Given the description of an element on the screen output the (x, y) to click on. 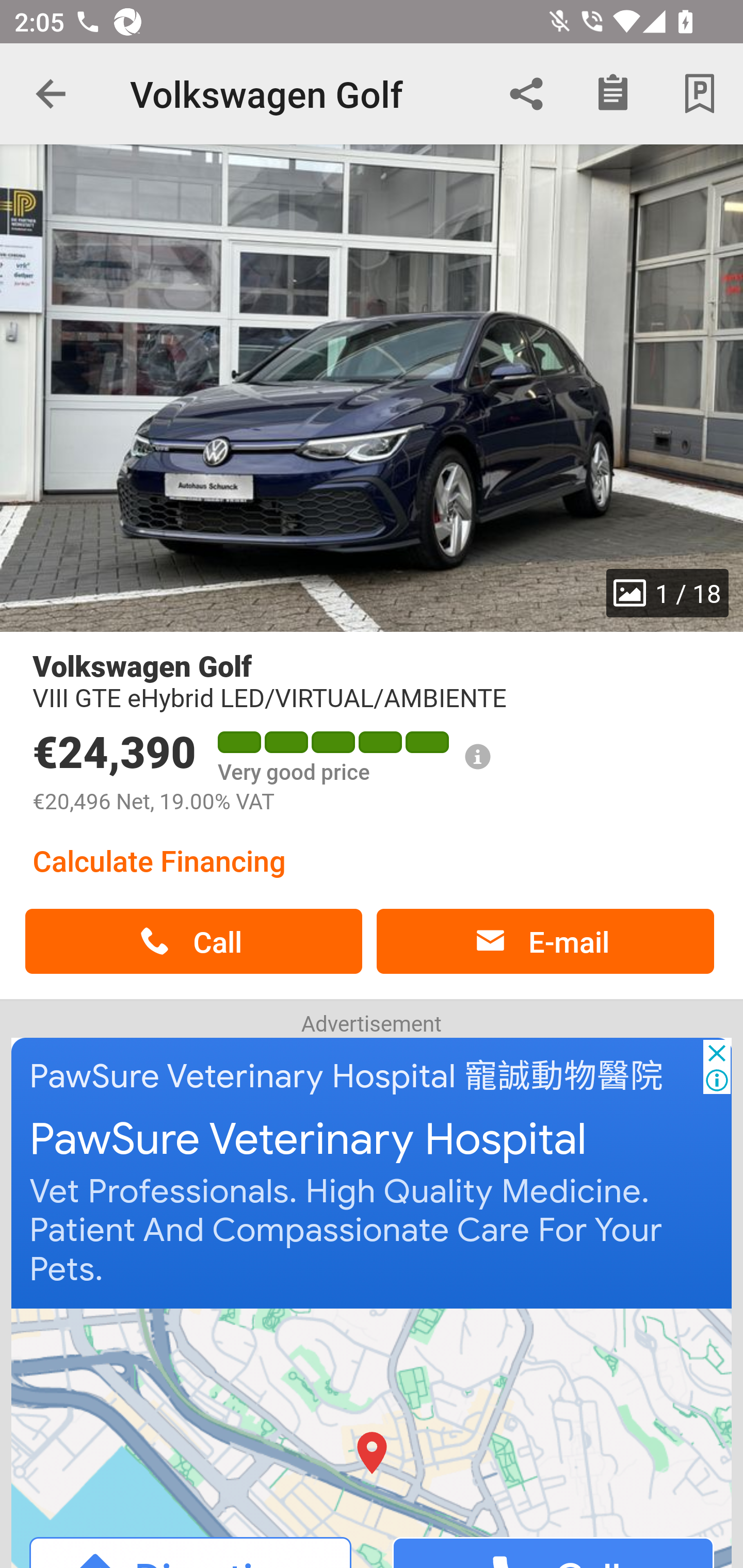
Navigate up (50, 93)
Share via (525, 93)
Checklist (612, 93)
Park (699, 93)
Calculate Financing (159, 859)
Call (193, 941)
E-mail (545, 941)
PawSure Veterinary Hospital 寵誠動物醫院 (346, 1076)
PawSure Veterinary Hospital (307, 1139)
Directions Call Directions Call (372, 1437)
